Given the description of an element on the screen output the (x, y) to click on. 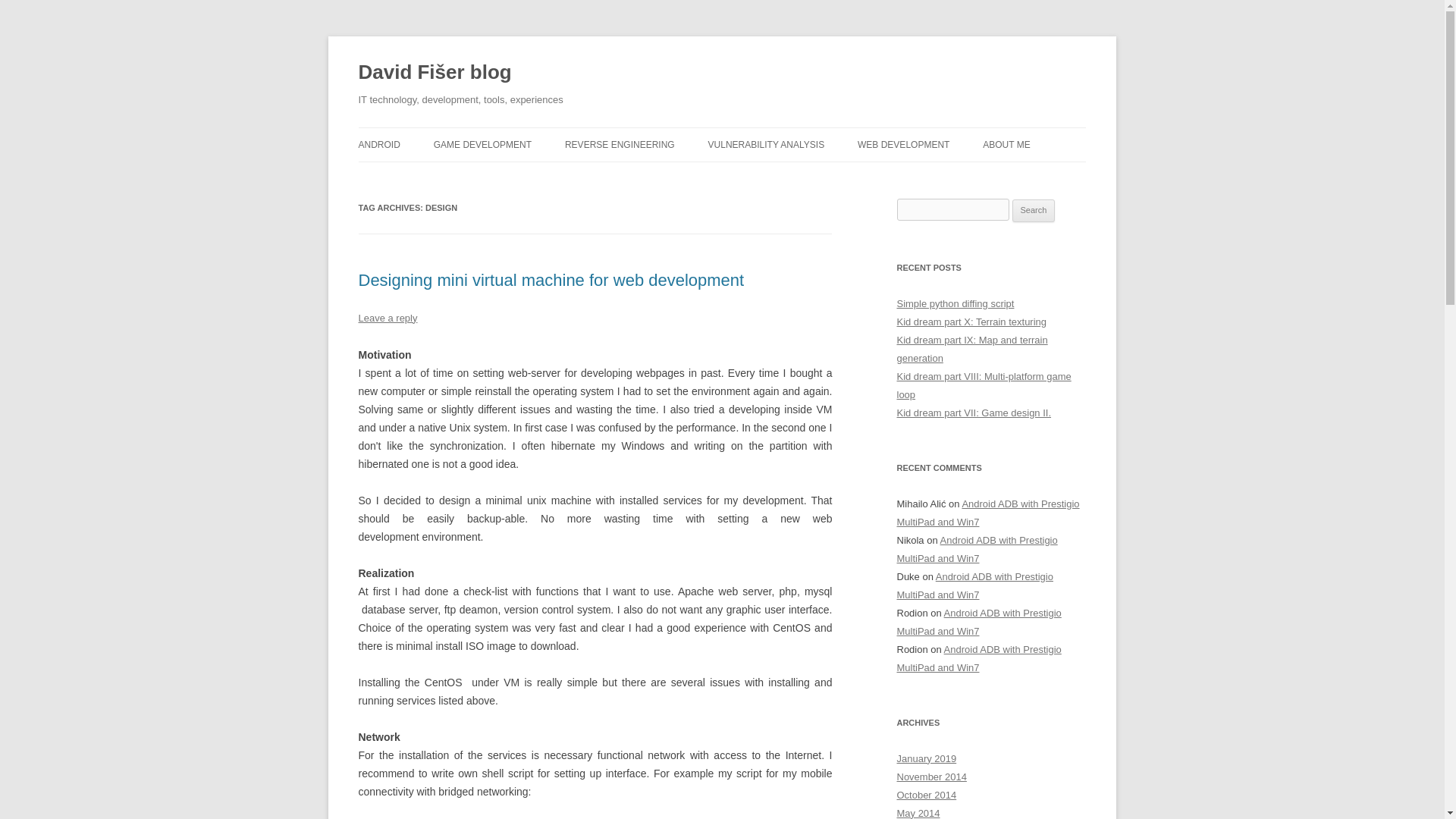
Kid dream part VII: Game design II. (973, 412)
REVERSE ENGINEERING (619, 144)
Simple python diffing script (954, 303)
October 2014 (926, 794)
Android ADB with Prestigio MultiPad and Win7 (976, 549)
Kid dream part IX: Map and terrain generation (971, 348)
Designing mini virtual machine for web development (551, 280)
VULNERABILITY ANALYSIS (766, 144)
Search (1033, 210)
Kid dream part VIII: Multi-platform game loop (983, 385)
